Given the description of an element on the screen output the (x, y) to click on. 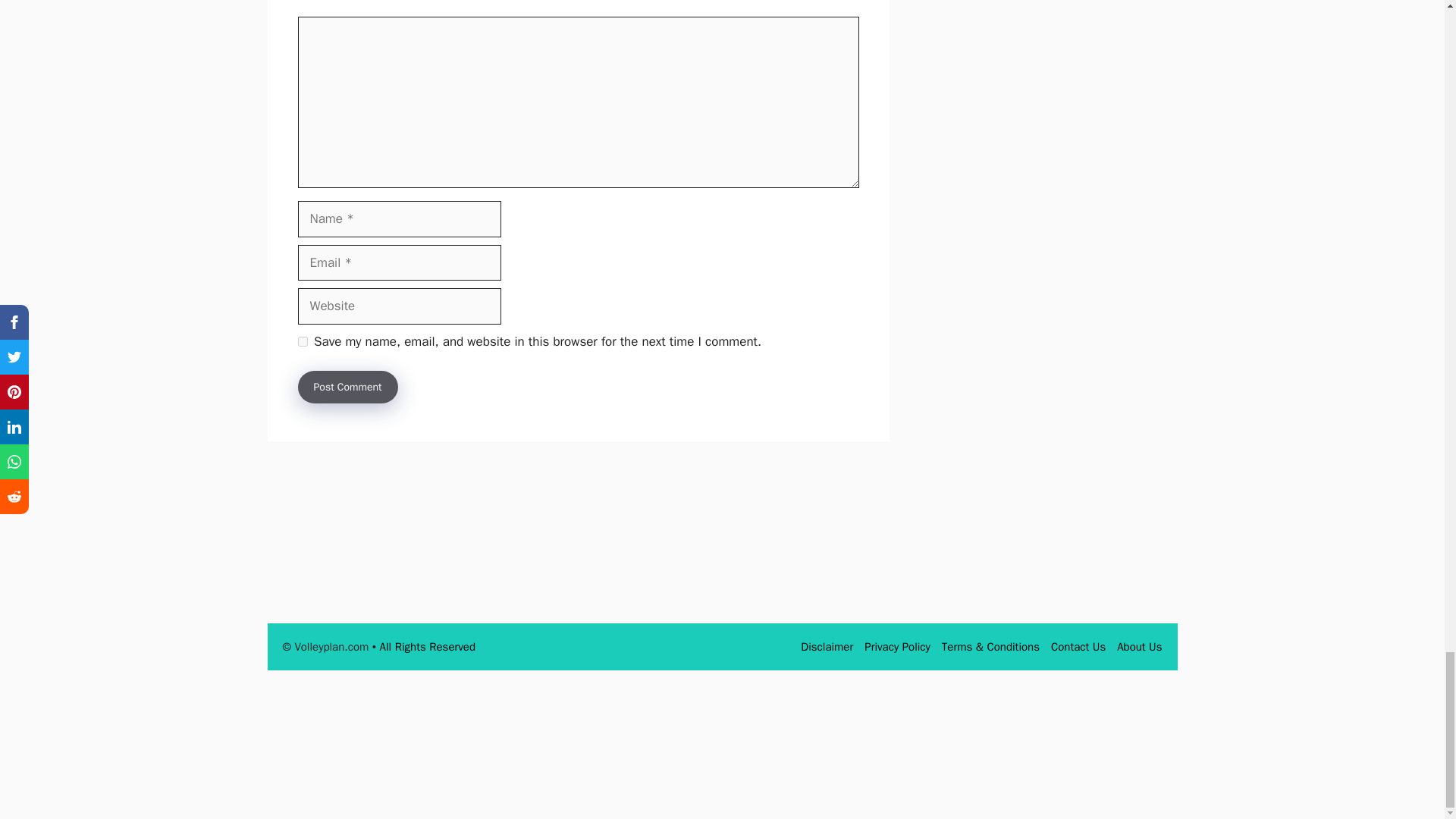
Post Comment (347, 387)
Post Comment (347, 387)
yes (302, 341)
